Given the description of an element on the screen output the (x, y) to click on. 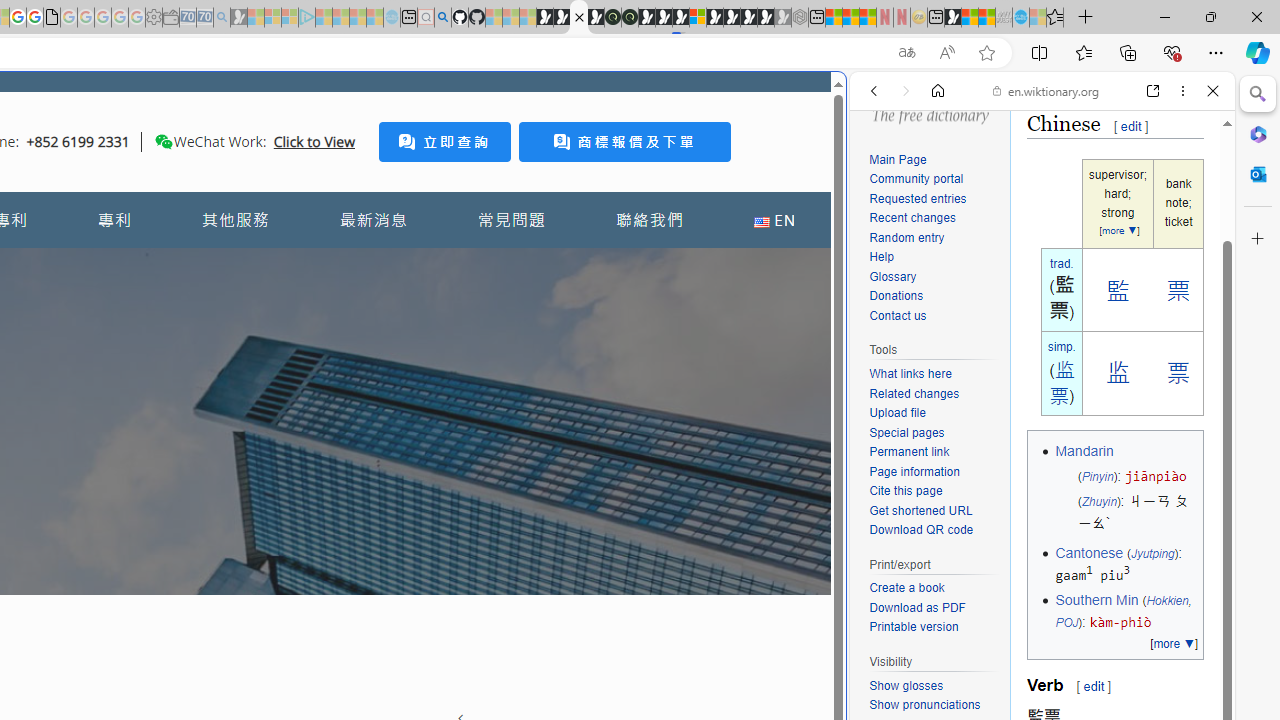
Requested entries (934, 199)
Future Focus Report 2024 (629, 17)
Glossary (934, 277)
Permanent link (909, 452)
Create a book (934, 588)
Show glosses (934, 686)
